Given the description of an element on the screen output the (x, y) to click on. 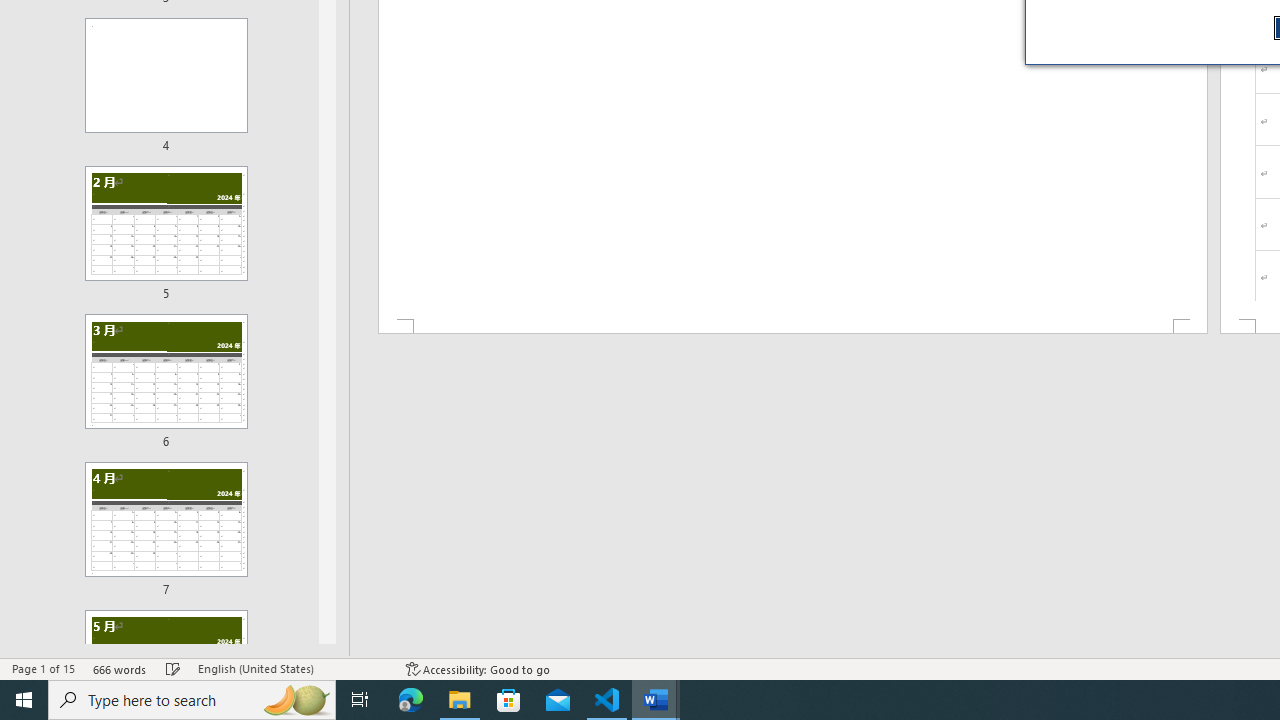
Word - 2 running windows (656, 699)
